Given the description of an element on the screen output the (x, y) to click on. 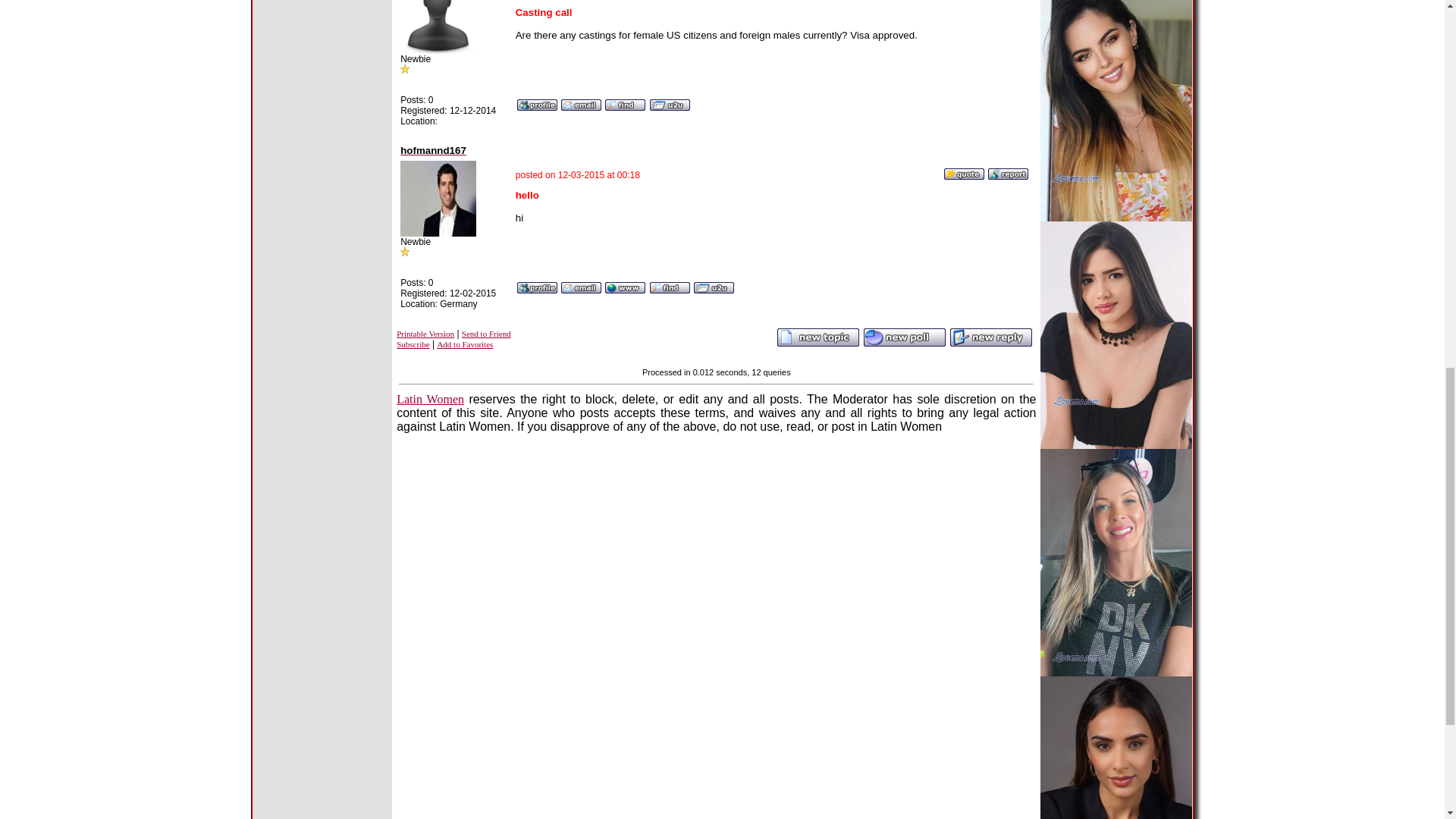
Create a new topic on this forum (818, 343)
Add a new reply to this topic (990, 343)
Create a new topic on this forum (904, 343)
